Given the description of an element on the screen output the (x, y) to click on. 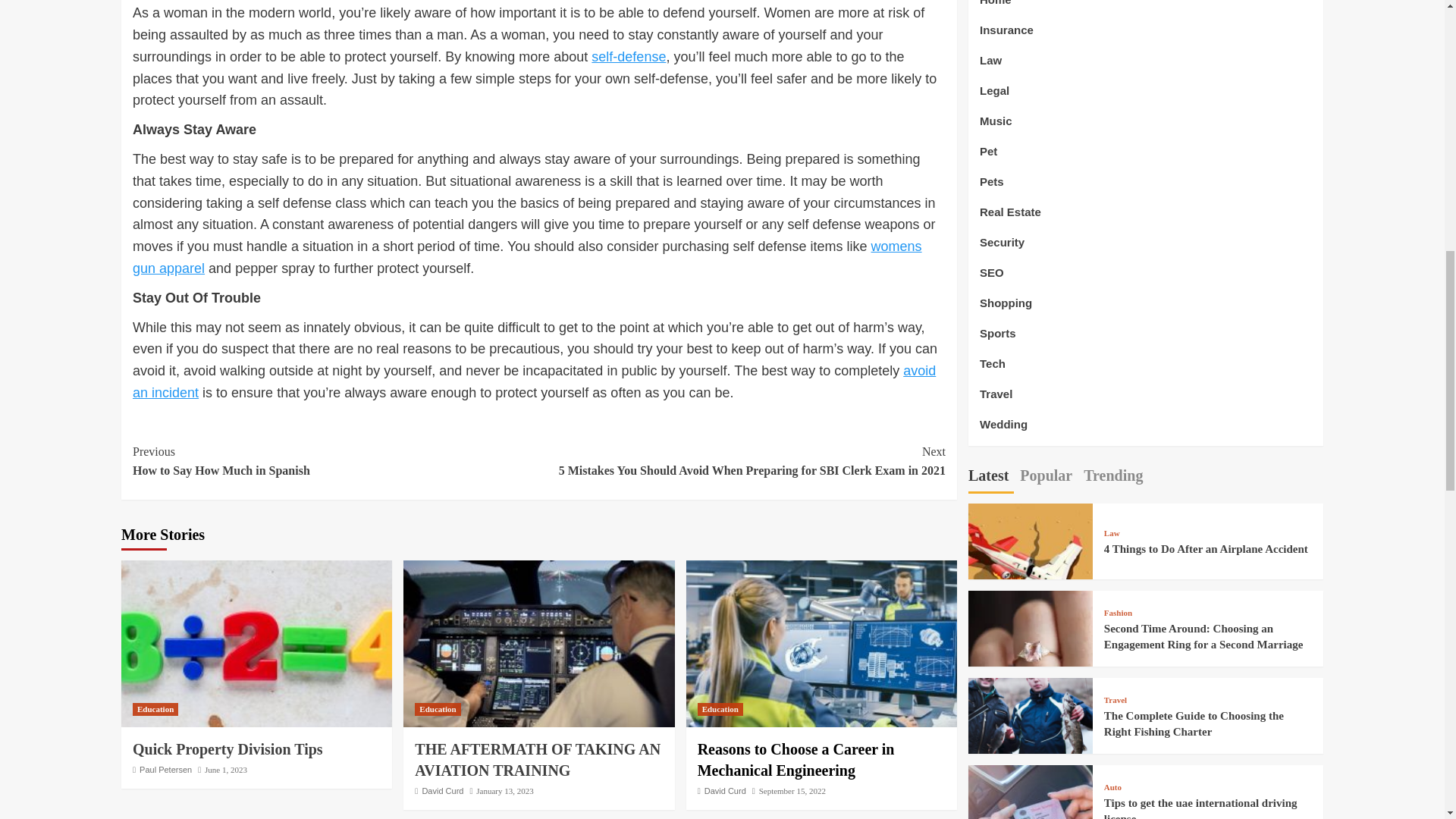
womens gun apparel (526, 257)
Quick Property Division Tips  (229, 749)
THE AFTERMATH OF TAKING AN AVIATION TRAINING (537, 759)
self-defense (628, 56)
David Curd (724, 790)
avoid an incident (534, 381)
January 13, 2023 (504, 790)
David Curd (335, 461)
